Given the description of an element on the screen output the (x, y) to click on. 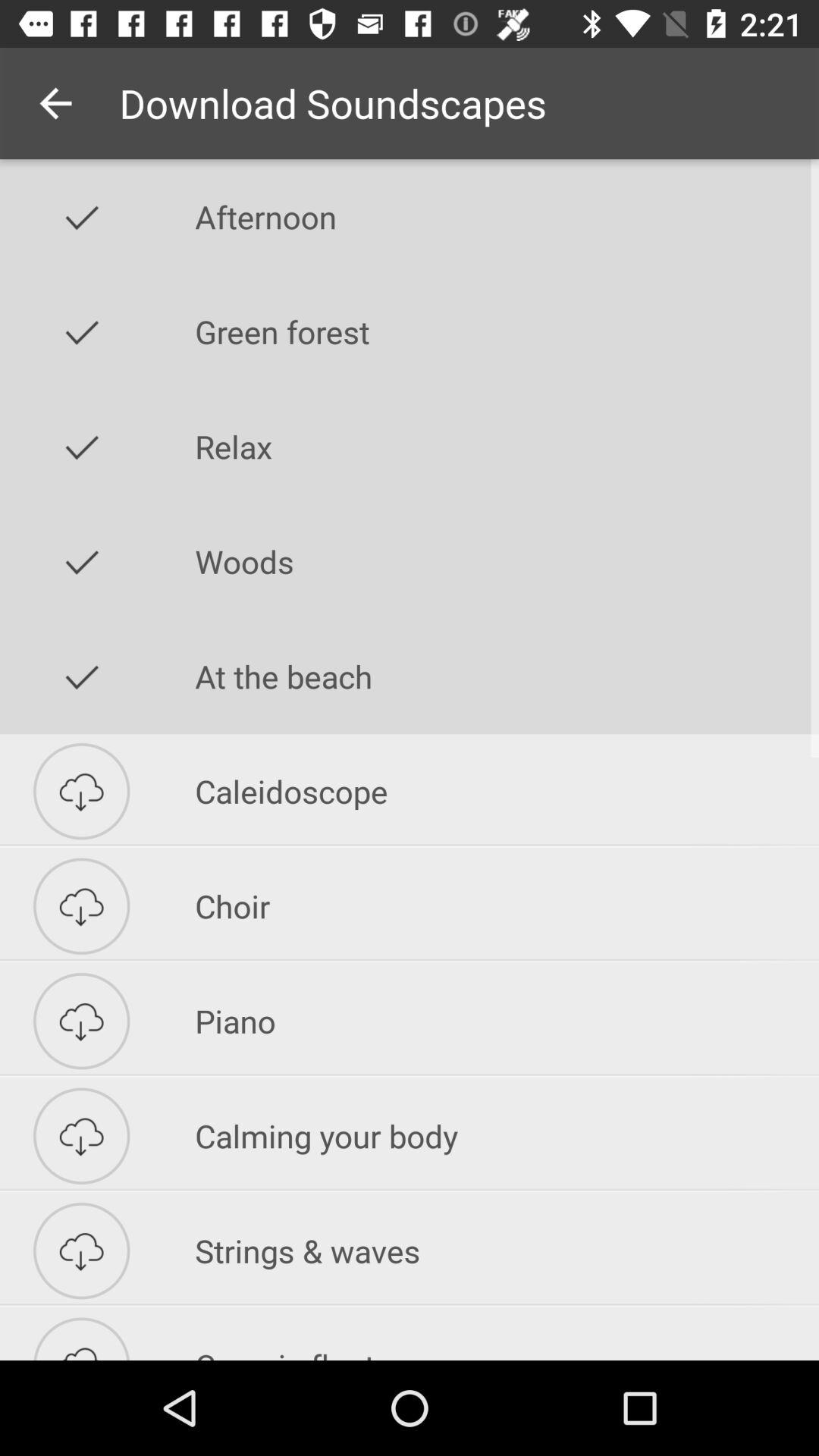
turn on app next to download soundscapes (55, 103)
